Given the description of an element on the screen output the (x, y) to click on. 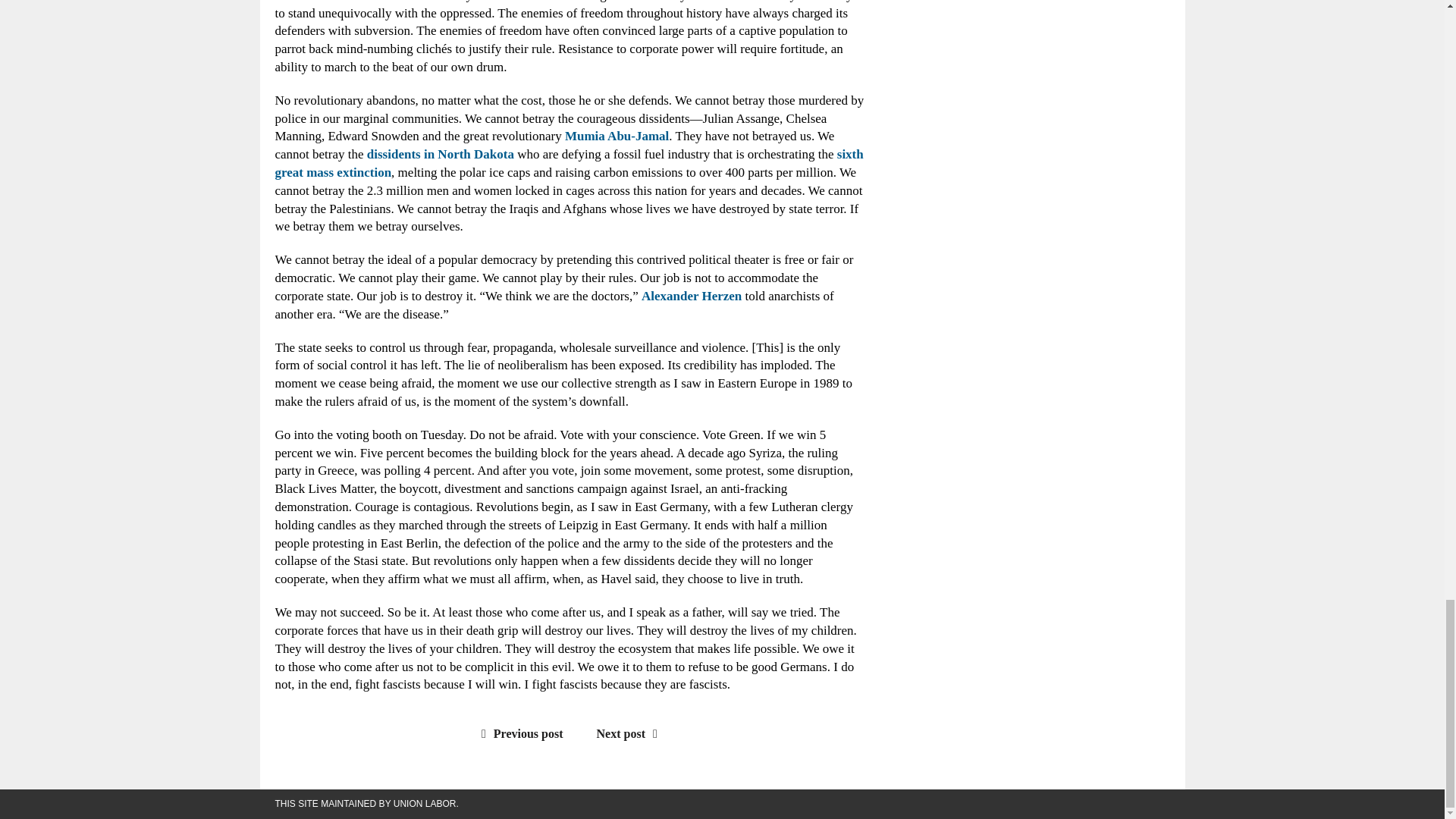
sixth great mass extinction (569, 163)
Previous post (518, 733)
Next post (630, 733)
Mumia Abu-Jamal (616, 135)
dissidents in North Dakota (439, 154)
Alexander Herzen (691, 296)
